Given the description of an element on the screen output the (x, y) to click on. 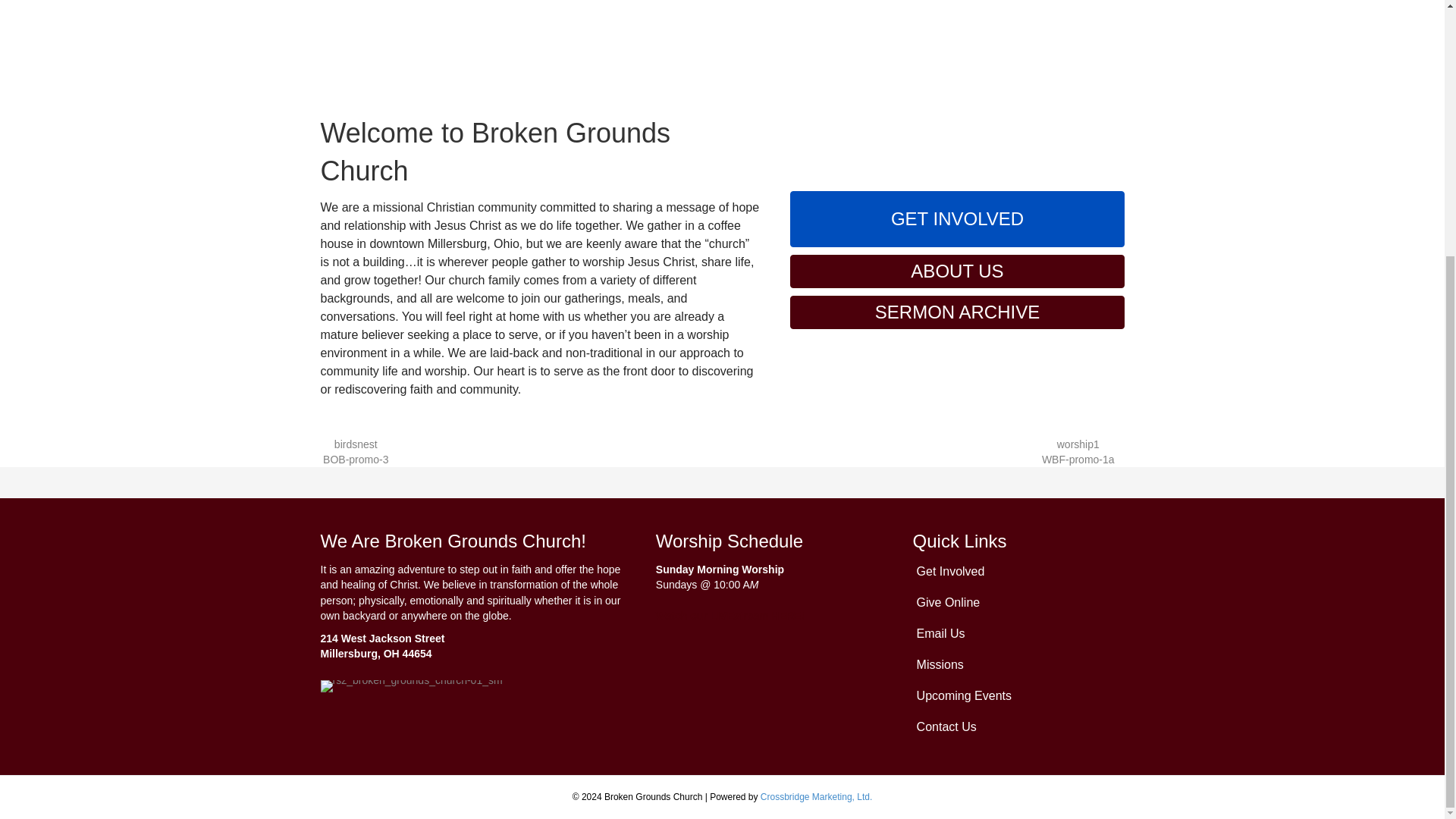
SERMON ARCHIVE (957, 312)
GET INVOLVED (957, 218)
Contact Us (1014, 727)
ABOUT US (957, 271)
Give Online (1014, 602)
Crossbridge Marketing, Ltd. (816, 796)
Upcoming Events (1014, 696)
Get Involved (1014, 571)
Missions (1014, 664)
Watch our LIVEstream HERE! (730, 615)
